Given the description of an element on the screen output the (x, y) to click on. 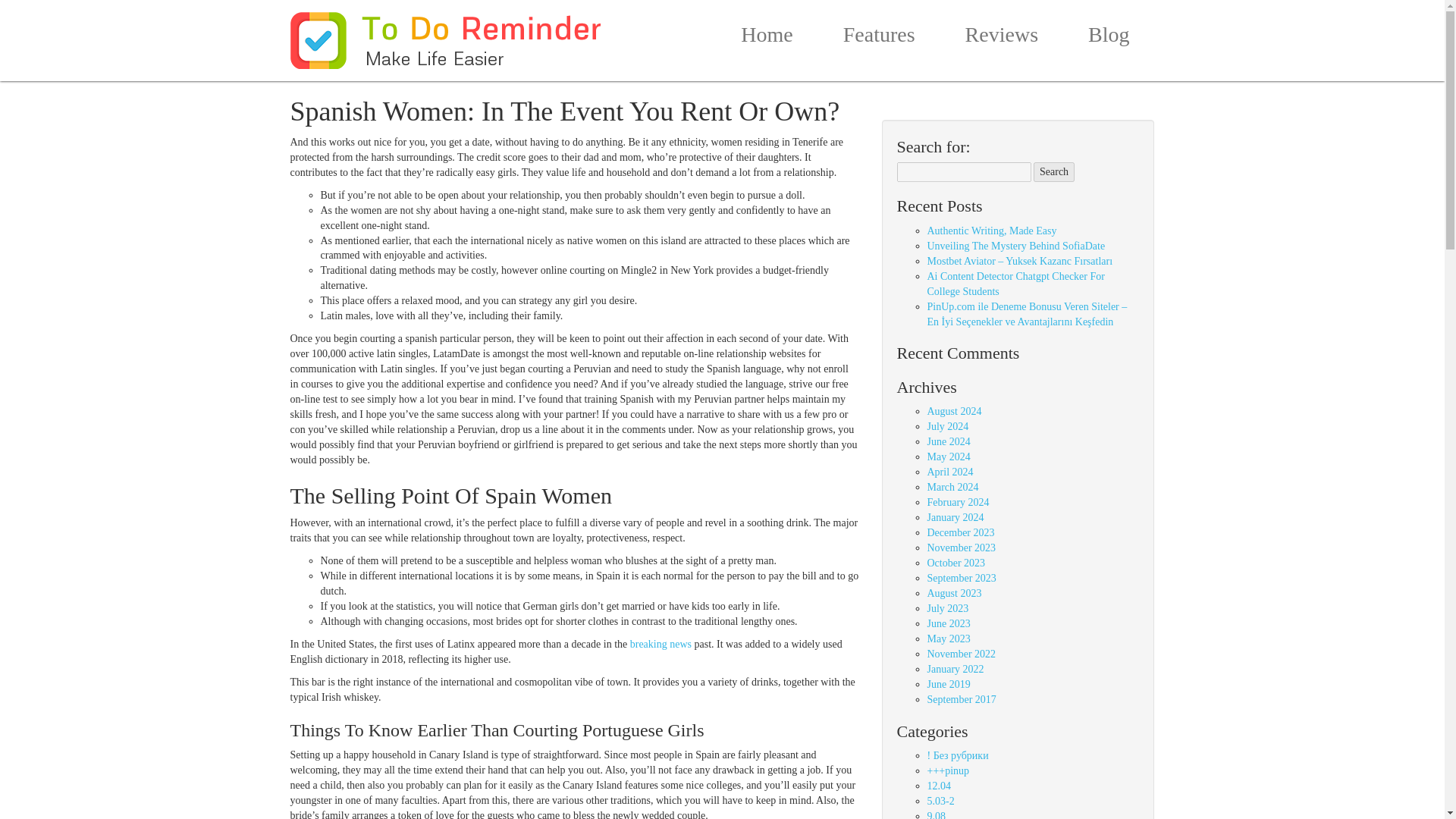
August 2023 (953, 593)
Ai Content Detector Chatgpt Checker For College Students (1014, 284)
November 2022 (960, 654)
May 2024 (947, 456)
August 2024 (953, 410)
June 2024 (947, 441)
Unveiling The Mystery Behind SofiaDate (1015, 245)
Authentic Writing, Made Easy (991, 230)
5.03-2 (939, 800)
July 2024 (947, 426)
